Given the description of an element on the screen output the (x, y) to click on. 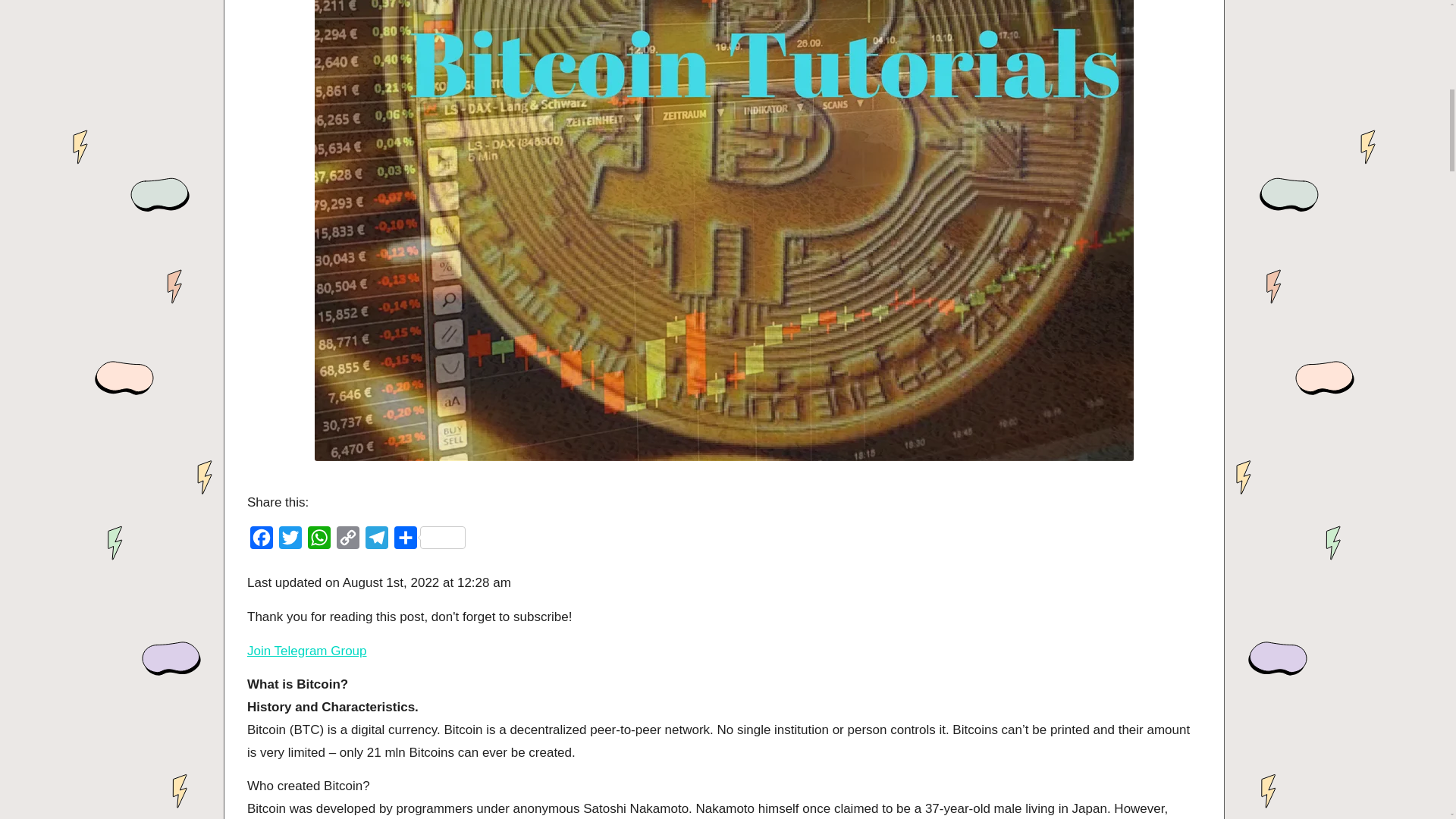
Copy Link (347, 541)
Facebook (261, 541)
WhatsApp (318, 541)
Twitter (290, 541)
Telegram (376, 541)
